Given the description of an element on the screen output the (x, y) to click on. 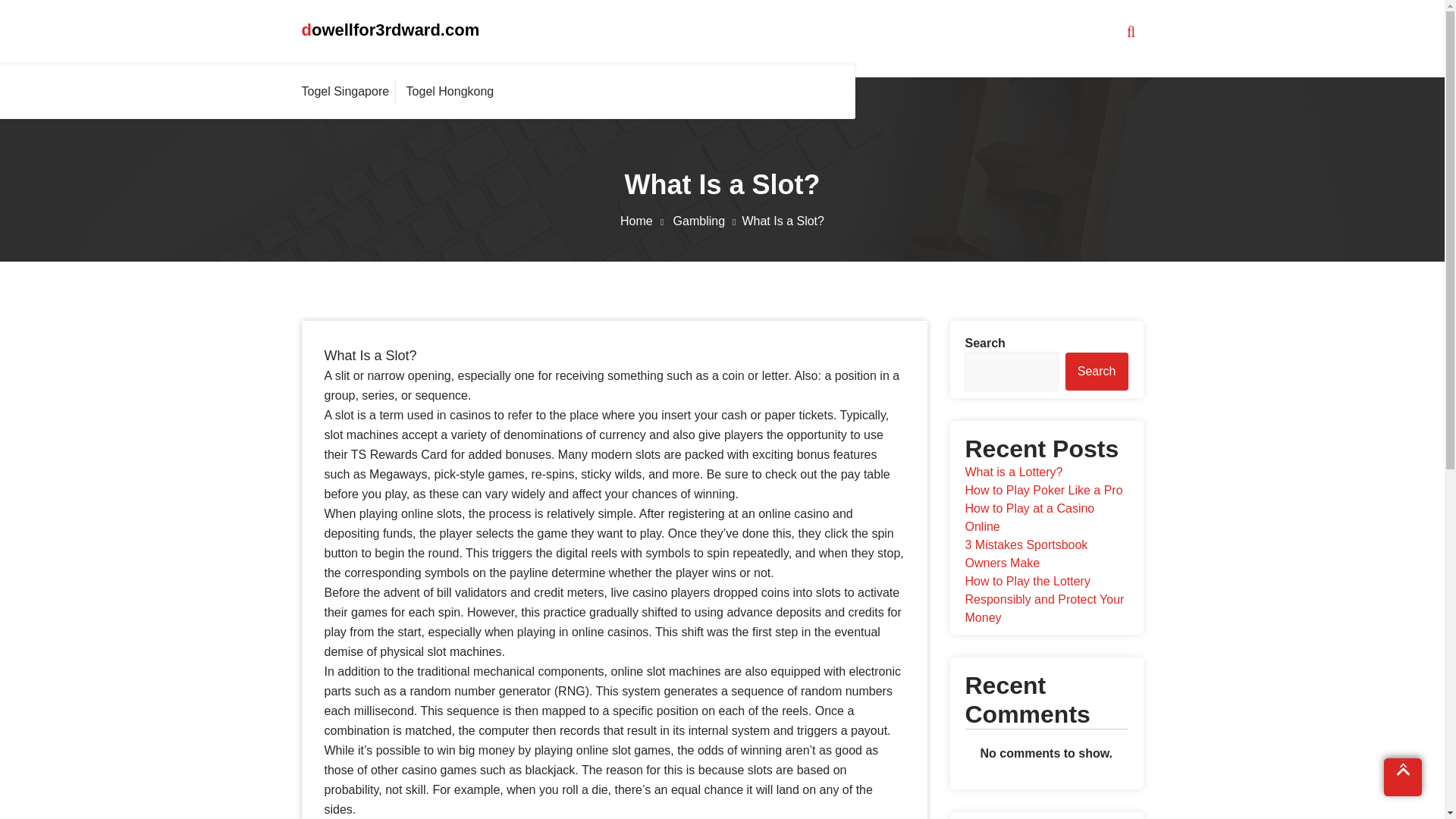
dowellfor3rdward.com (390, 30)
Togel Hongkong (449, 91)
3 Mistakes Sportsbook Owners Make (1025, 553)
How to Play at a Casino Online (1028, 517)
Gambling (707, 220)
Togel Singapore (348, 91)
Togel Singapore (348, 91)
Home (644, 220)
Togel Hongkong (449, 91)
What is a Lottery? (1012, 472)
Search (1096, 371)
How to Play Poker Like a Pro (1042, 490)
How to Play the Lottery Responsibly and Protect Your Money (1043, 599)
